Given the description of an element on the screen output the (x, y) to click on. 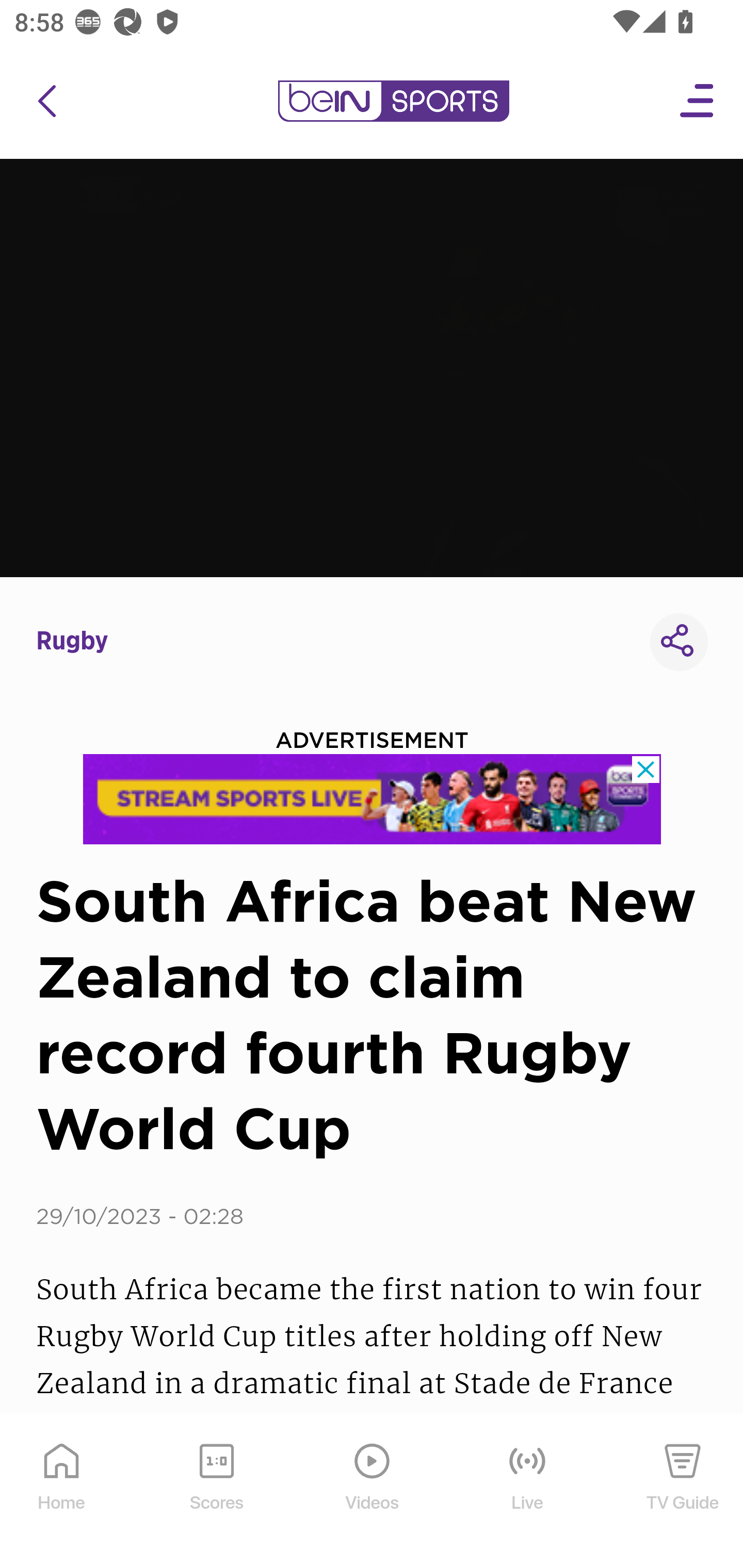
en-my?platform=mobile_android bein logo (392, 101)
icon back (46, 101)
Open Menu Icon (697, 101)
l8psv8uu (372, 799)
Home Home Icon Home (61, 1491)
Scores Scores Icon Scores (216, 1491)
Videos Videos Icon Videos (372, 1491)
TV Guide TV Guide Icon TV Guide (682, 1491)
